Given the description of an element on the screen output the (x, y) to click on. 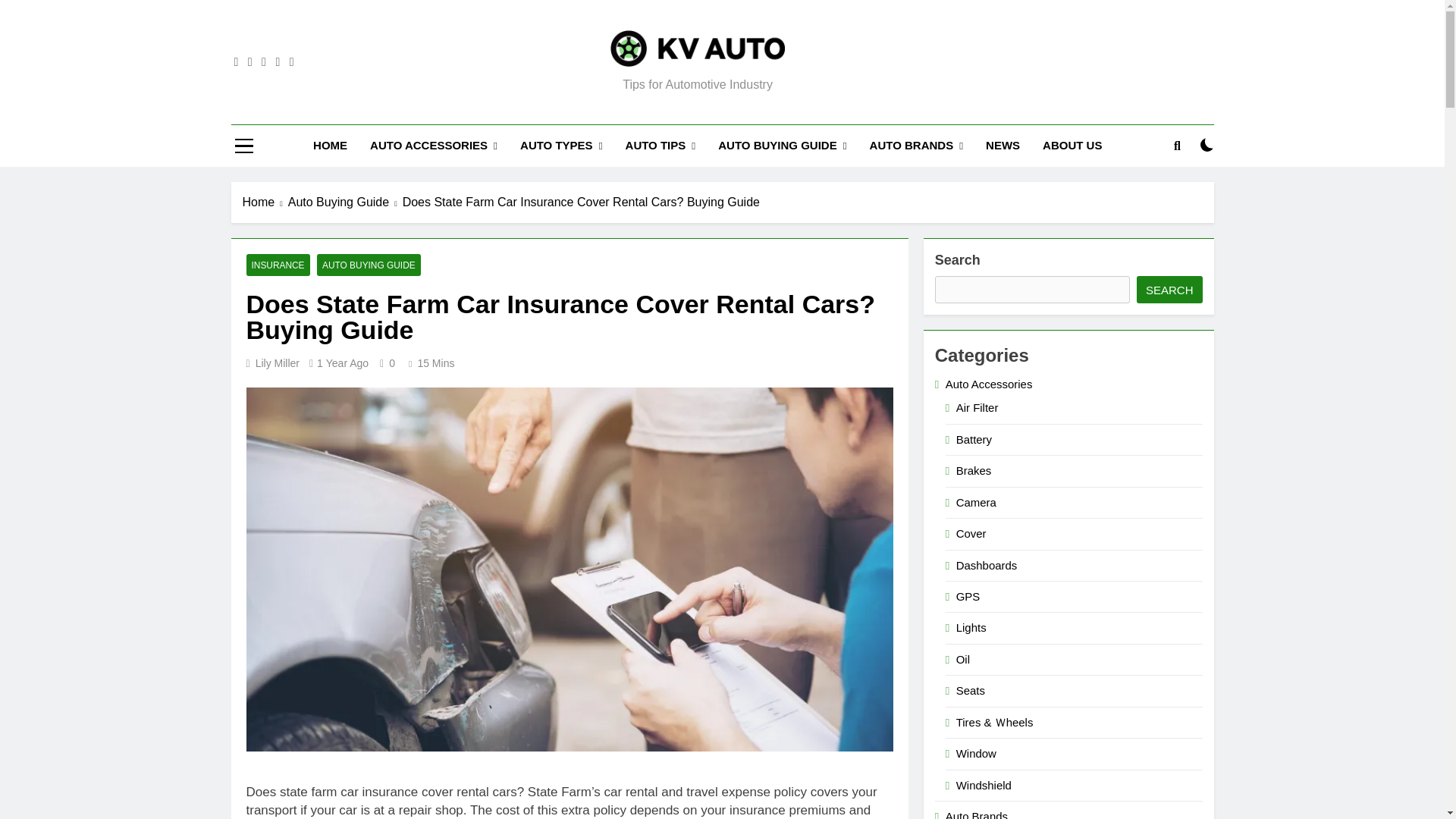
AUTO BUYING GUIDE (781, 146)
KV Auto (495, 88)
AUTO TIPS (660, 146)
HOME (329, 145)
AUTO TYPES (561, 146)
AUTO ACCESSORIES (433, 146)
on (1206, 144)
